Given the description of an element on the screen output the (x, y) to click on. 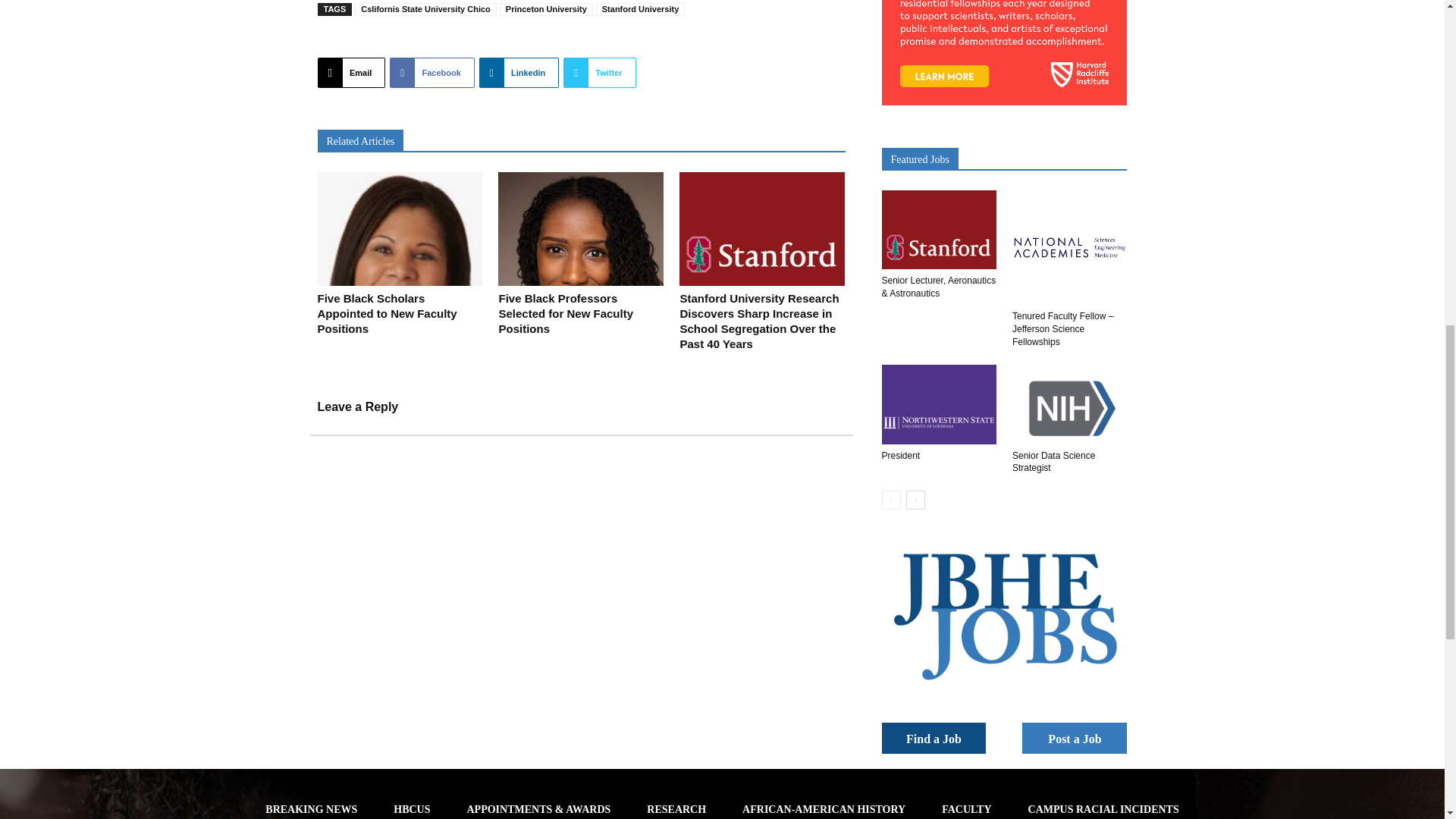
Five Black Scholars Appointed to New Faculty Positions (399, 228)
Email (351, 72)
Princeton University (545, 9)
Linkedin (519, 72)
Email (351, 72)
Twitter (598, 72)
Five Black Professors Selected for New Faculty Positions (565, 312)
Cslifornis State University Chico (425, 9)
Twitter (598, 72)
Stanford University (639, 9)
Five Black Scholars Appointed to New Faculty Positions (387, 312)
Facebook (432, 72)
Facebook (432, 72)
Linkedin (519, 72)
